Given the description of an element on the screen output the (x, y) to click on. 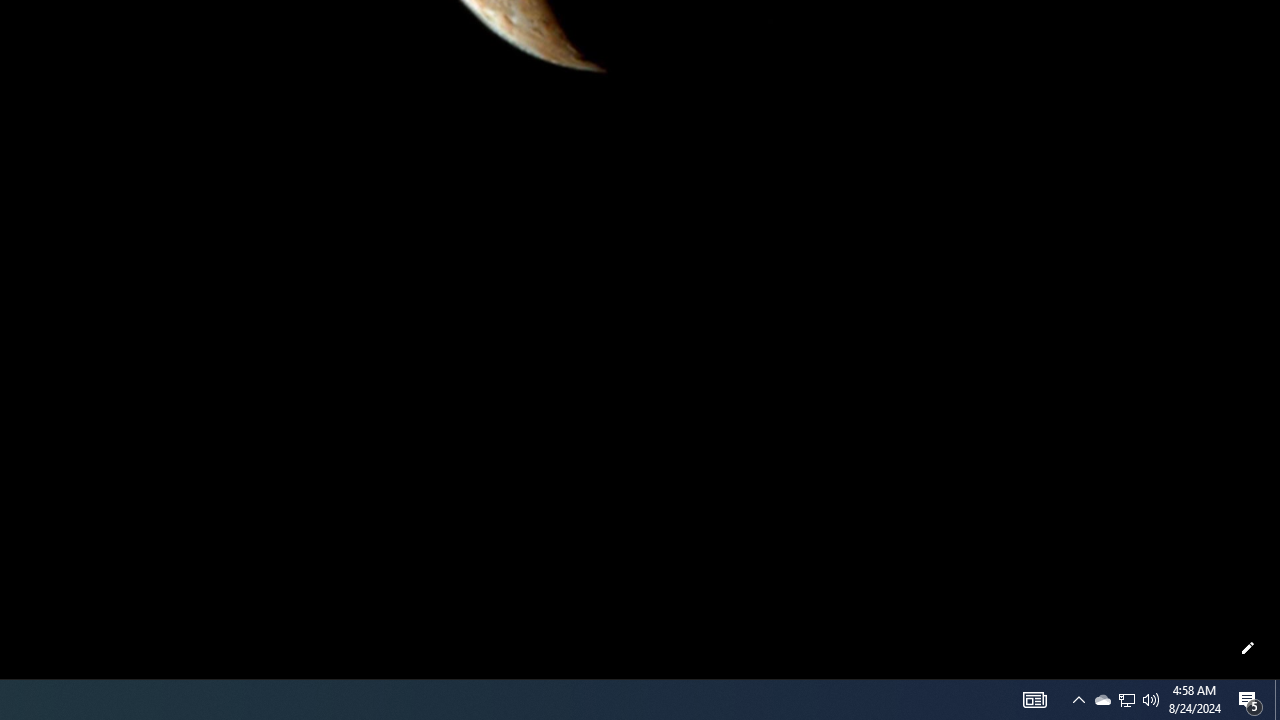
Customize this page (1247, 647)
